Given the description of an element on the screen output the (x, y) to click on. 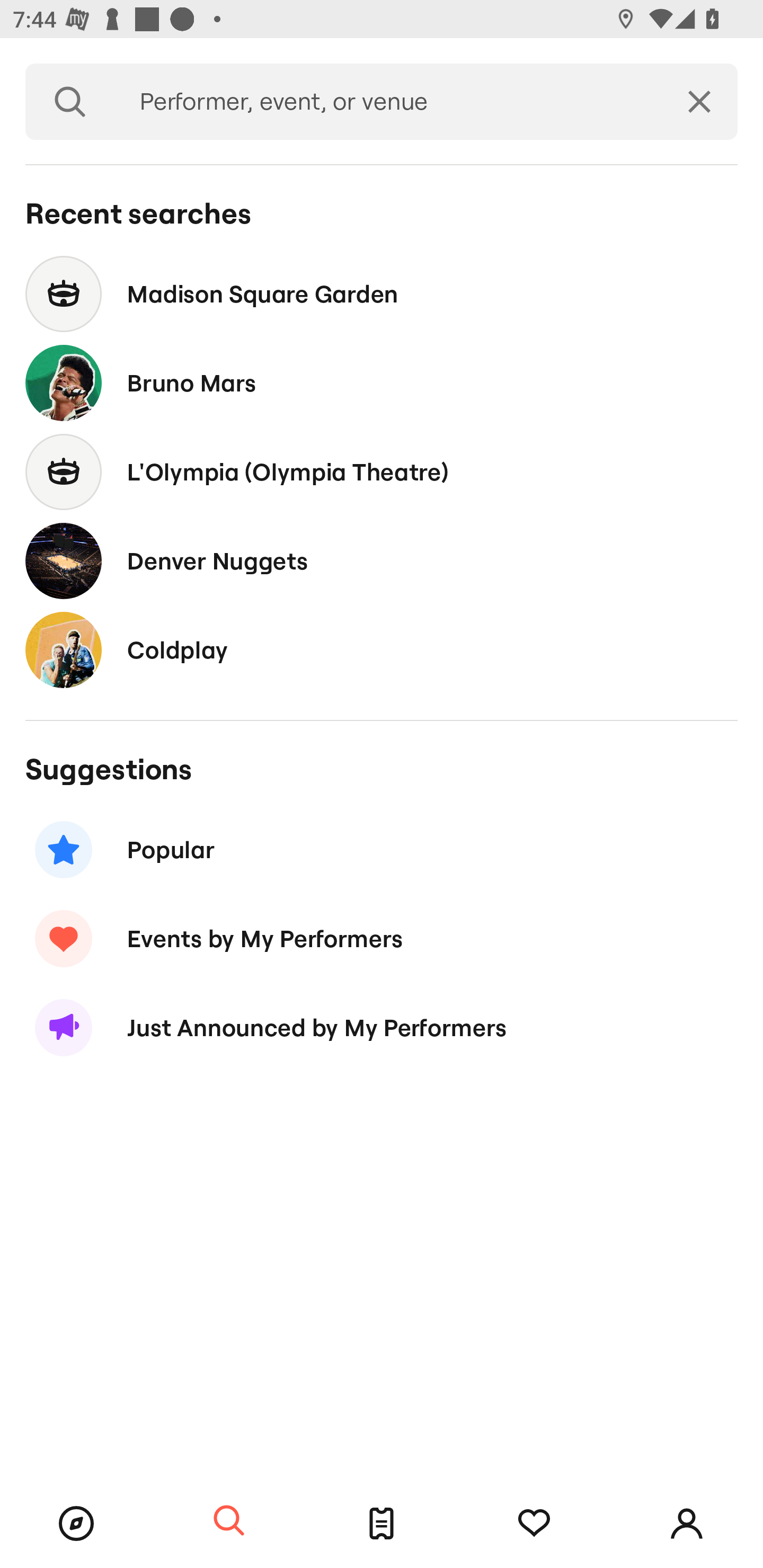
Search (69, 101)
Performer, event, or venue (387, 101)
Clear (699, 101)
Madison Square Garden (381, 293)
Bruno Mars (381, 383)
L'Olympia (Olympia Theatre) (381, 471)
Denver Nuggets (381, 560)
Coldplay (381, 649)
Popular (381, 849)
Events by My Performers (381, 938)
Just Announced by My Performers (381, 1027)
Browse (76, 1523)
Search (228, 1521)
Tickets (381, 1523)
Tracking (533, 1523)
Account (686, 1523)
